Given the description of an element on the screen output the (x, y) to click on. 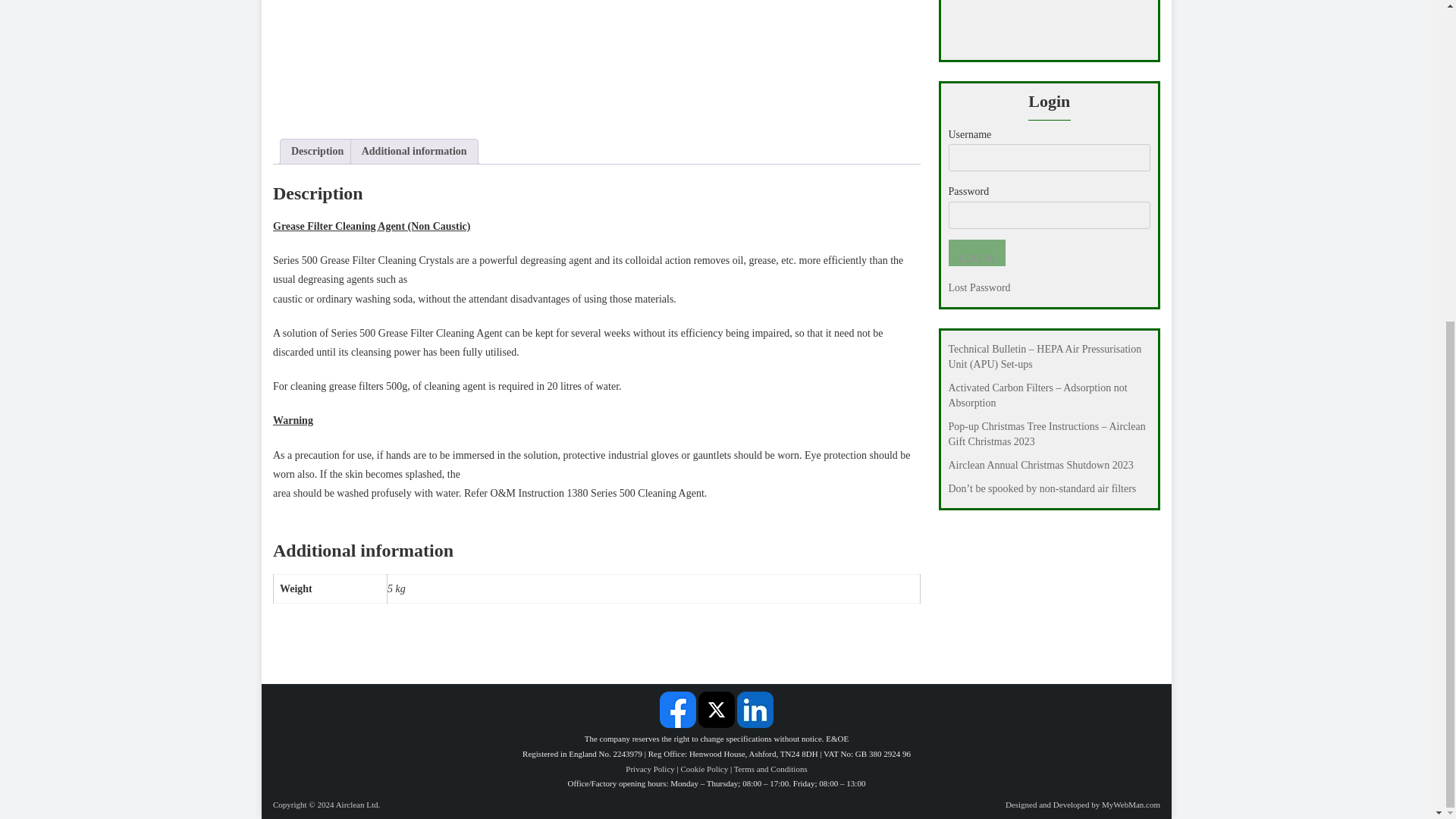
Log In (975, 252)
